Given the description of an element on the screen output the (x, y) to click on. 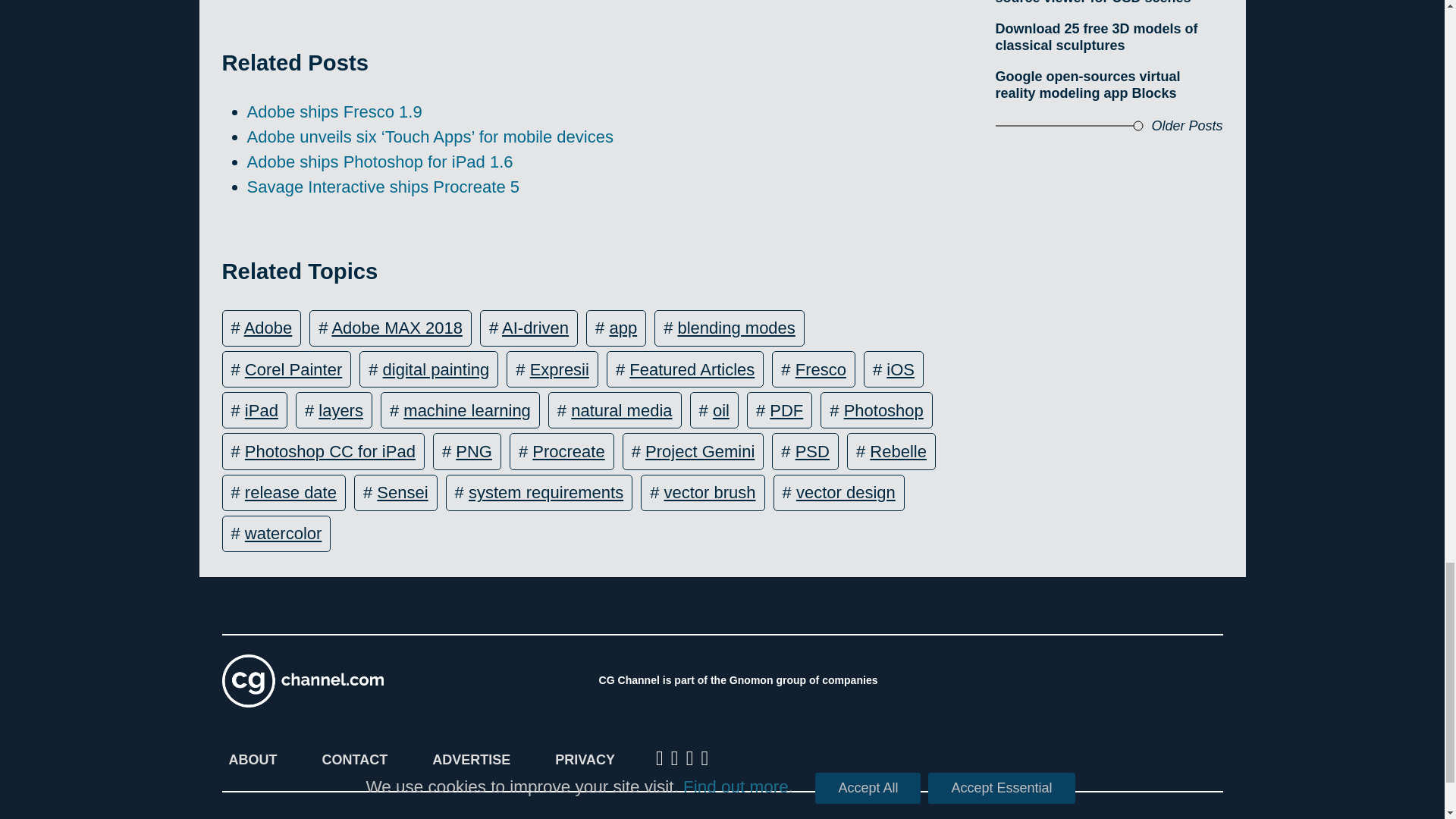
Adobe ships Fresco 1.9 (334, 111)
Adobe ships Photoshop for iPad 1.6 (380, 161)
digital painting (435, 368)
Corel Painter (293, 368)
Expresii (559, 368)
Adobe ships Fresco 1.9 (334, 111)
Savage Interactive ships Procreate 5 (383, 186)
blending modes (736, 327)
Savage Interactive ships Procreate 5 (383, 186)
Gnomon School (970, 680)
